Given the description of an element on the screen output the (x, y) to click on. 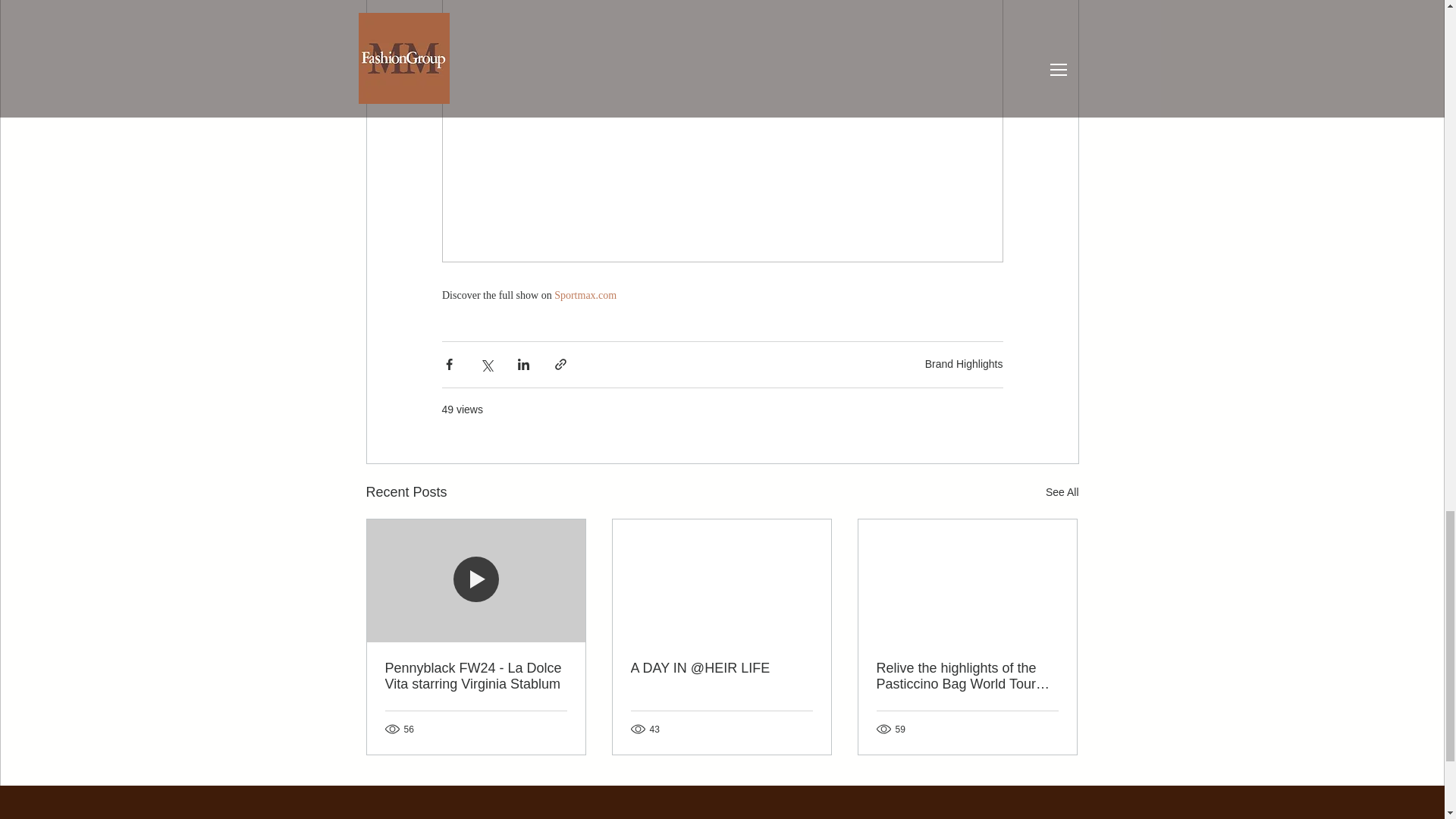
Brand Highlights (963, 363)
See All (1061, 492)
Sportmax.com (584, 295)
Pennyblack FW24 - La Dolce Vita starring Virginia Stablum (476, 676)
